Given the description of an element on the screen output the (x, y) to click on. 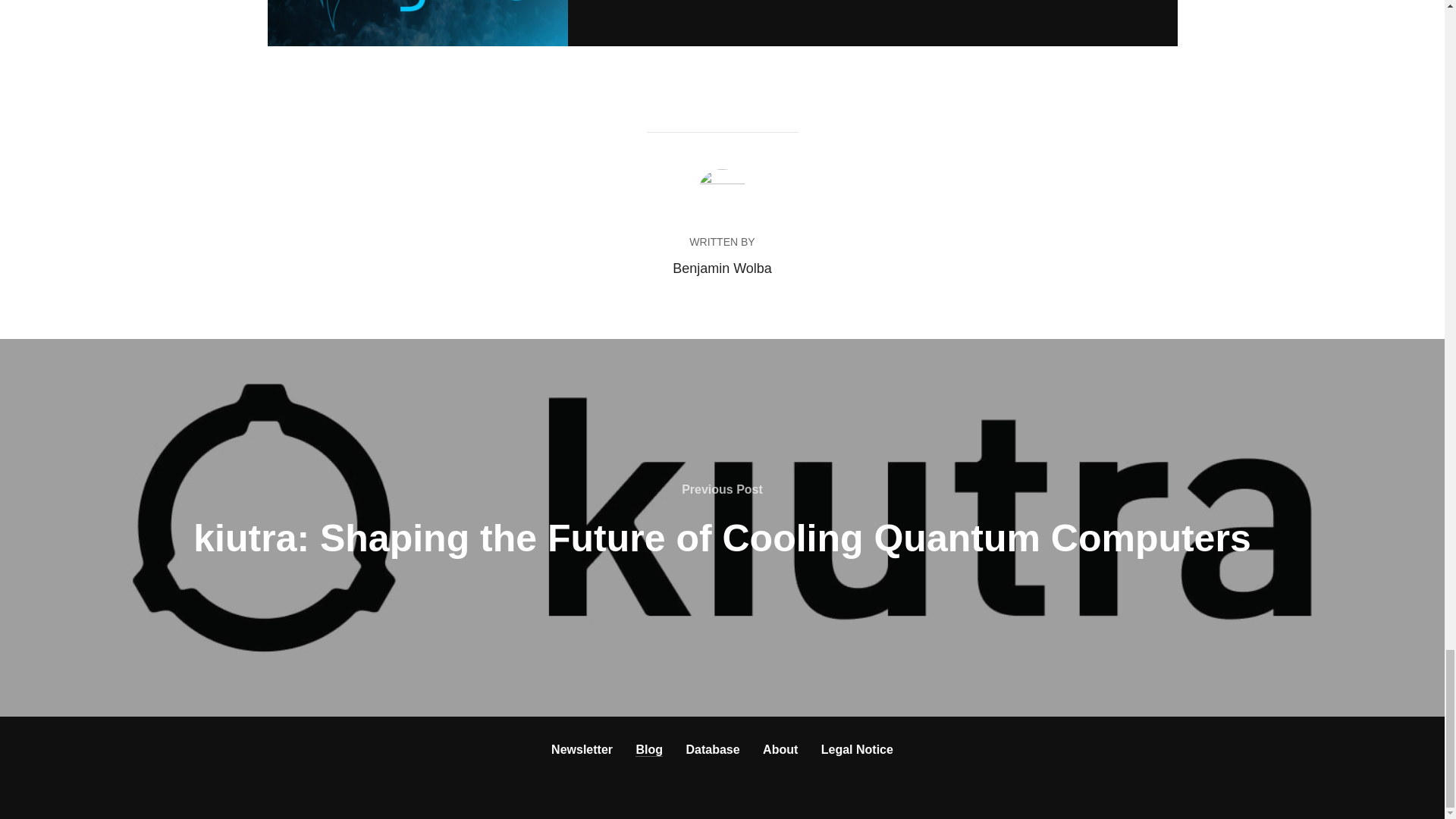
intel-ignite-header (416, 22)
Posts by Benjamin Wolba (721, 268)
